Given the description of an element on the screen output the (x, y) to click on. 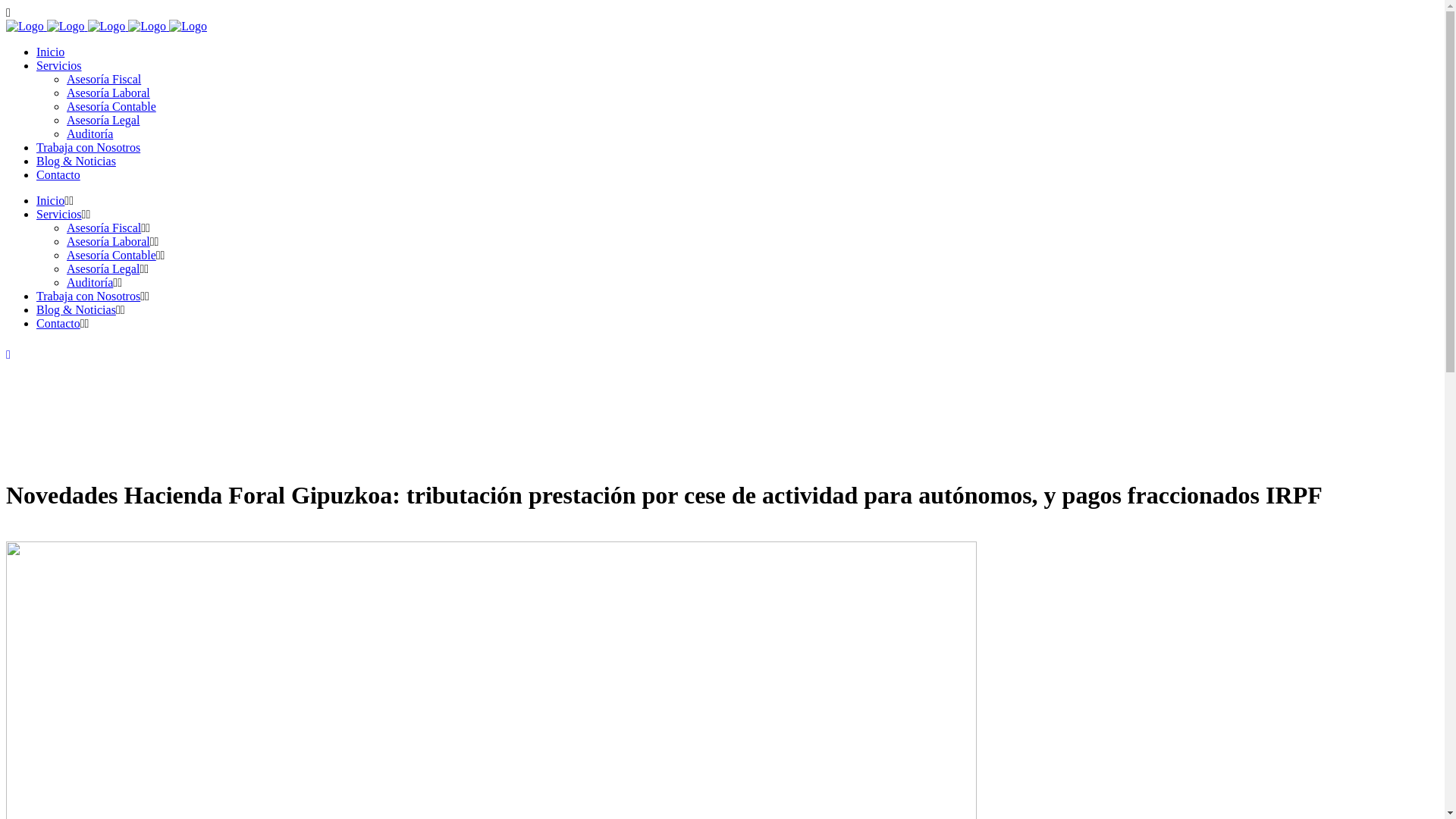
Blog & Noticias Element type: text (76, 160)
Trabaja con Nosotros Element type: text (88, 147)
Inicio Element type: text (50, 200)
Servicios Element type: text (58, 213)
Inicio Element type: text (50, 51)
Trabaja con Nosotros Element type: text (88, 295)
Contacto Element type: text (58, 174)
Blog & Noticias Element type: text (76, 309)
Servicios Element type: text (58, 65)
Contacto Element type: text (58, 322)
